Given the description of an element on the screen output the (x, y) to click on. 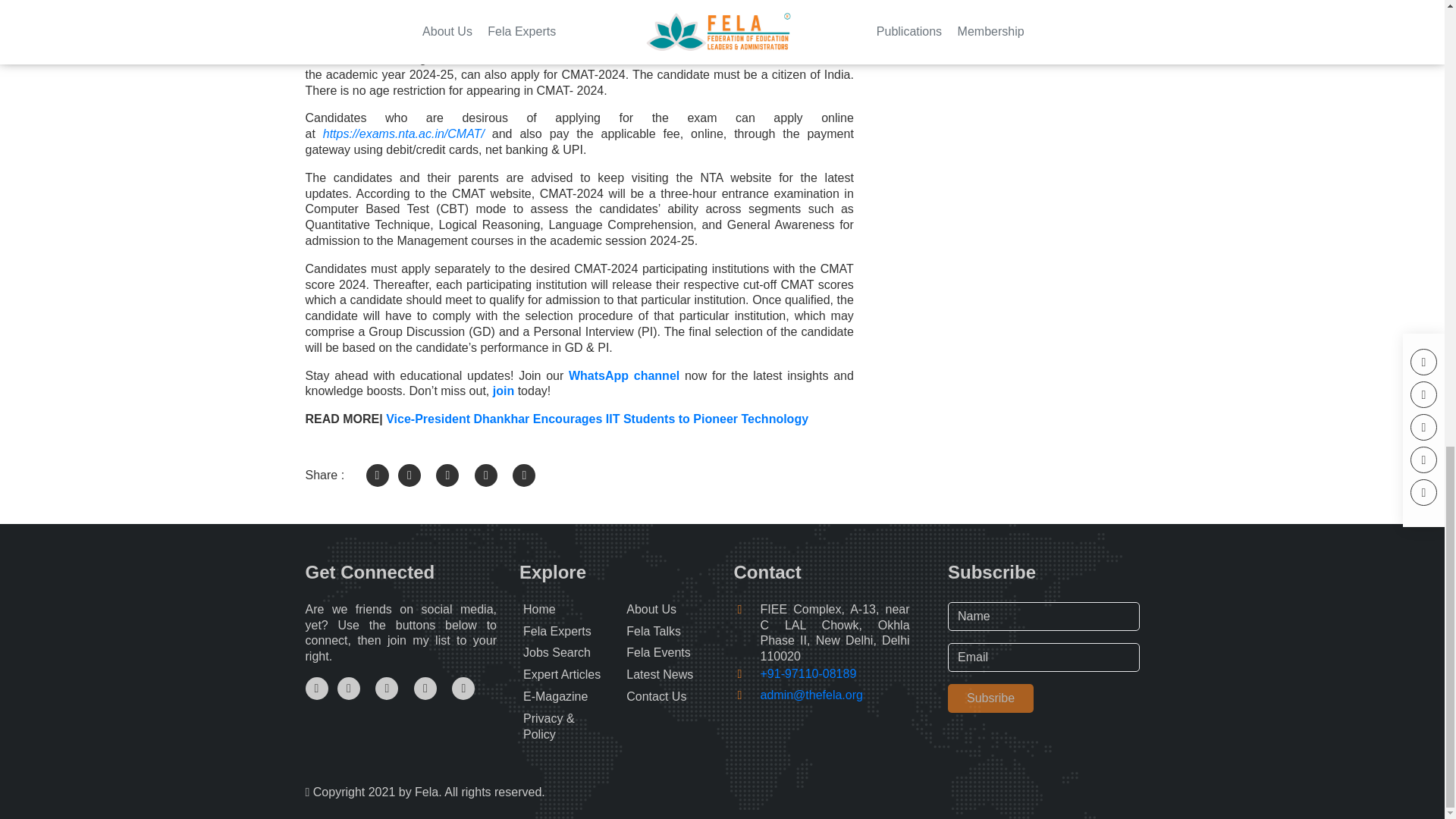
WhatsApp channel  (626, 375)
 join (501, 390)
